Given the description of an element on the screen output the (x, y) to click on. 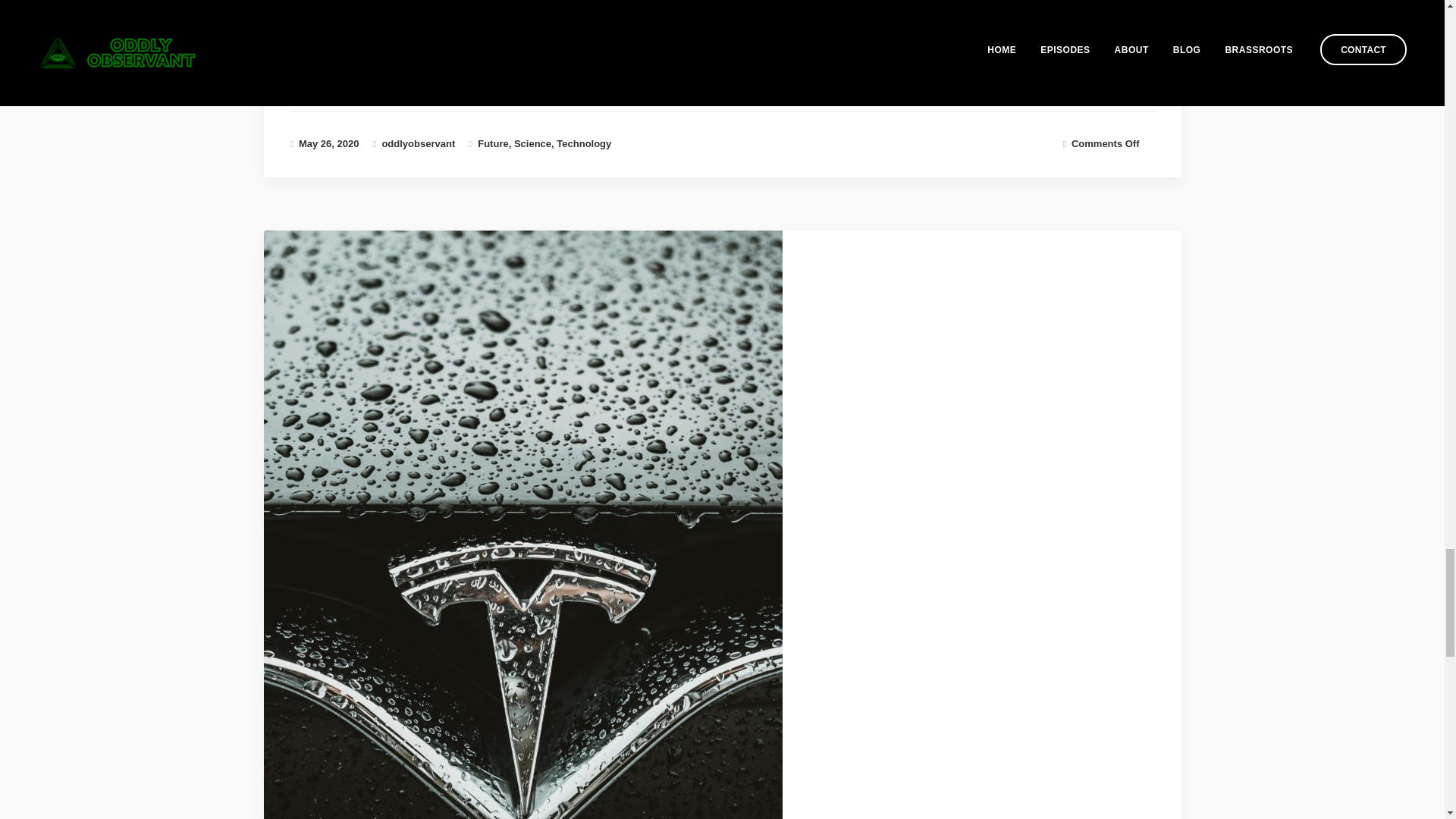
Posts by oddlyobservant (417, 143)
Technology (583, 143)
Science (532, 143)
oddlyobservant (417, 143)
May 26, 2020 (328, 143)
Future (492, 143)
SpaceX Rocket Launch (328, 143)
